Given the description of an element on the screen output the (x, y) to click on. 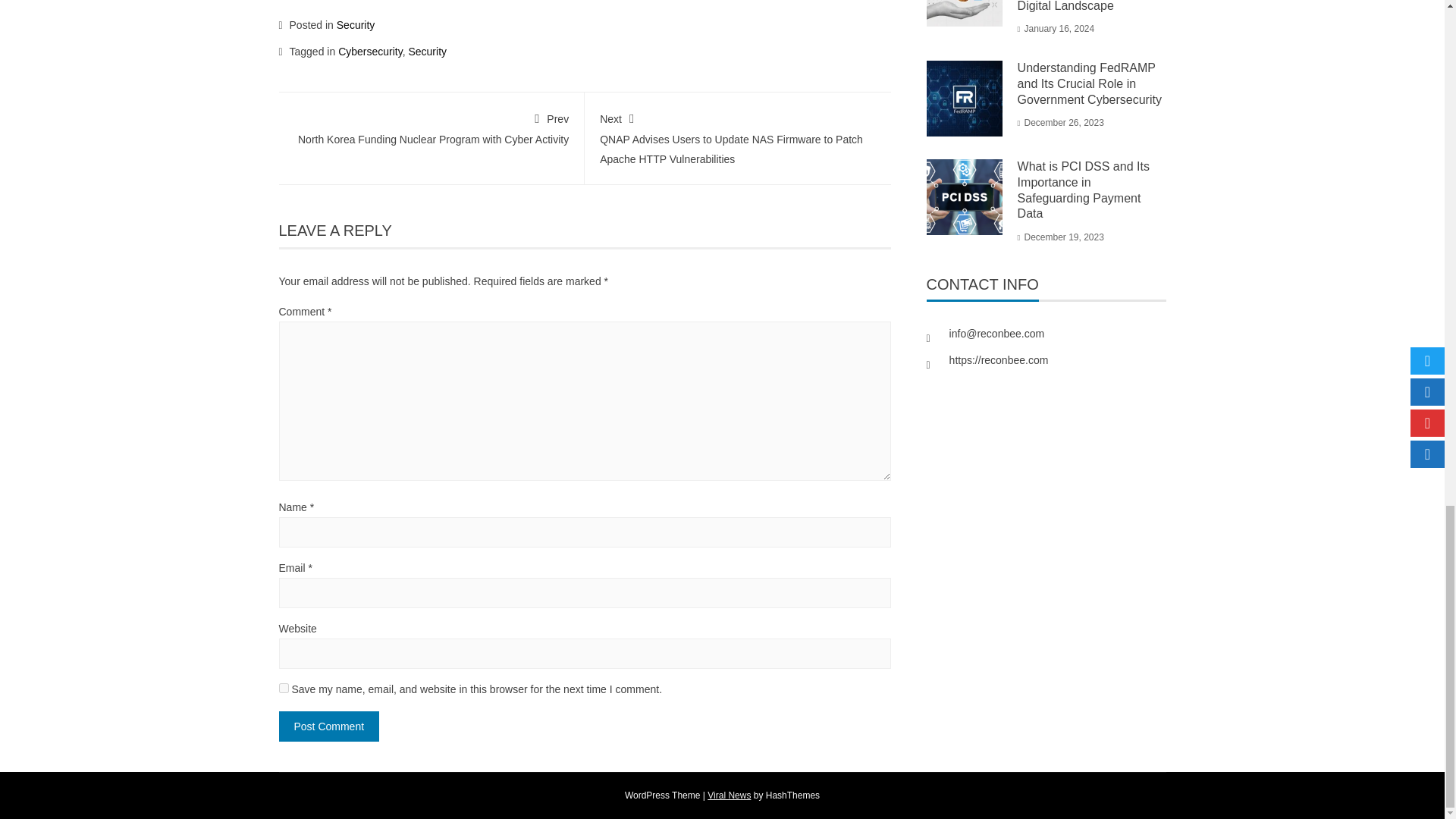
yes (283, 687)
Post Comment (329, 726)
Download Viral News (729, 795)
